Given the description of an element on the screen output the (x, y) to click on. 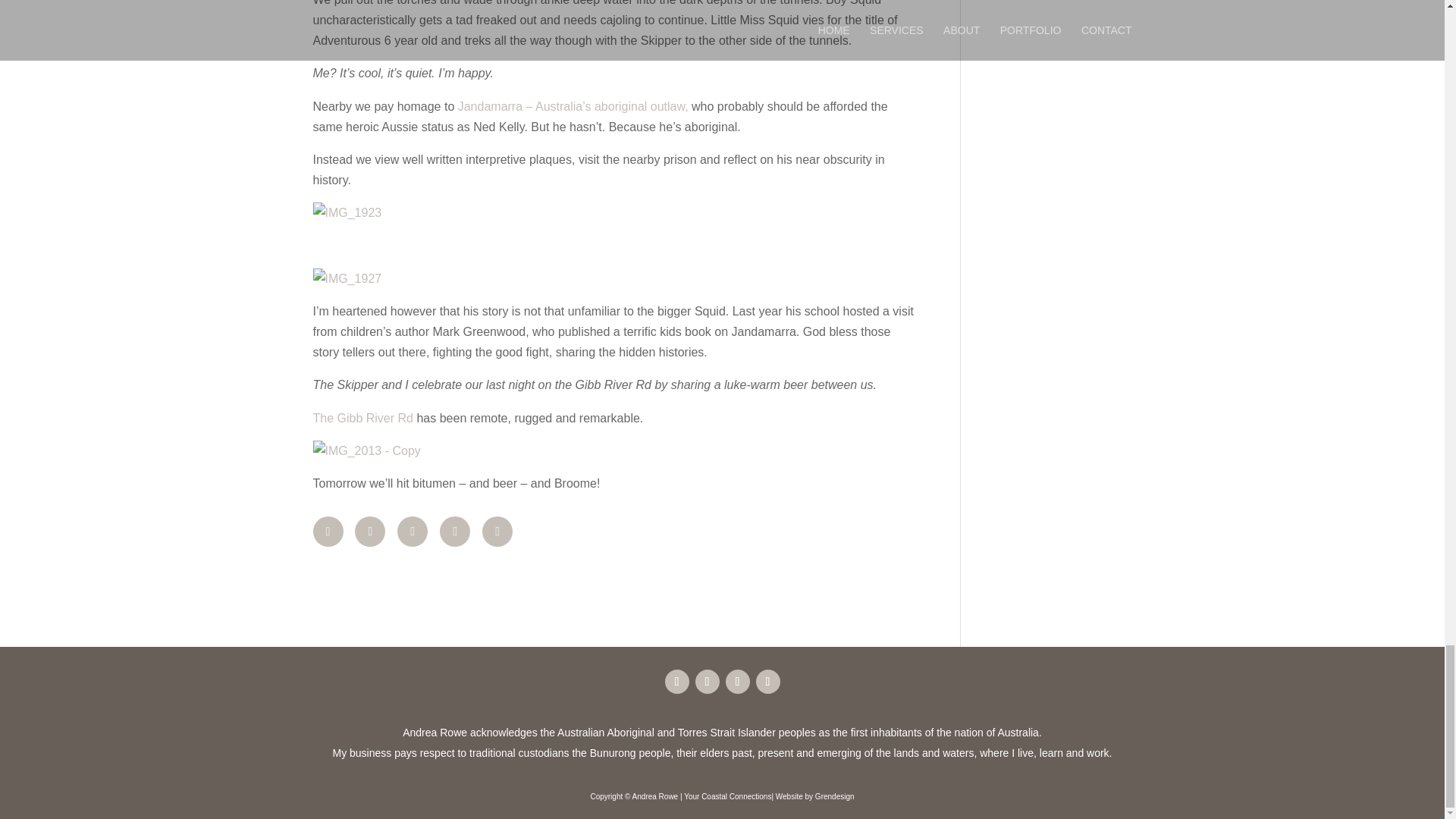
Follow on Instagram (737, 681)
The Gibb River Rd (364, 418)
Follow on X (766, 681)
Follow on LinkedIn (706, 681)
Follow on Facebook (675, 681)
